Given the description of an element on the screen output the (x, y) to click on. 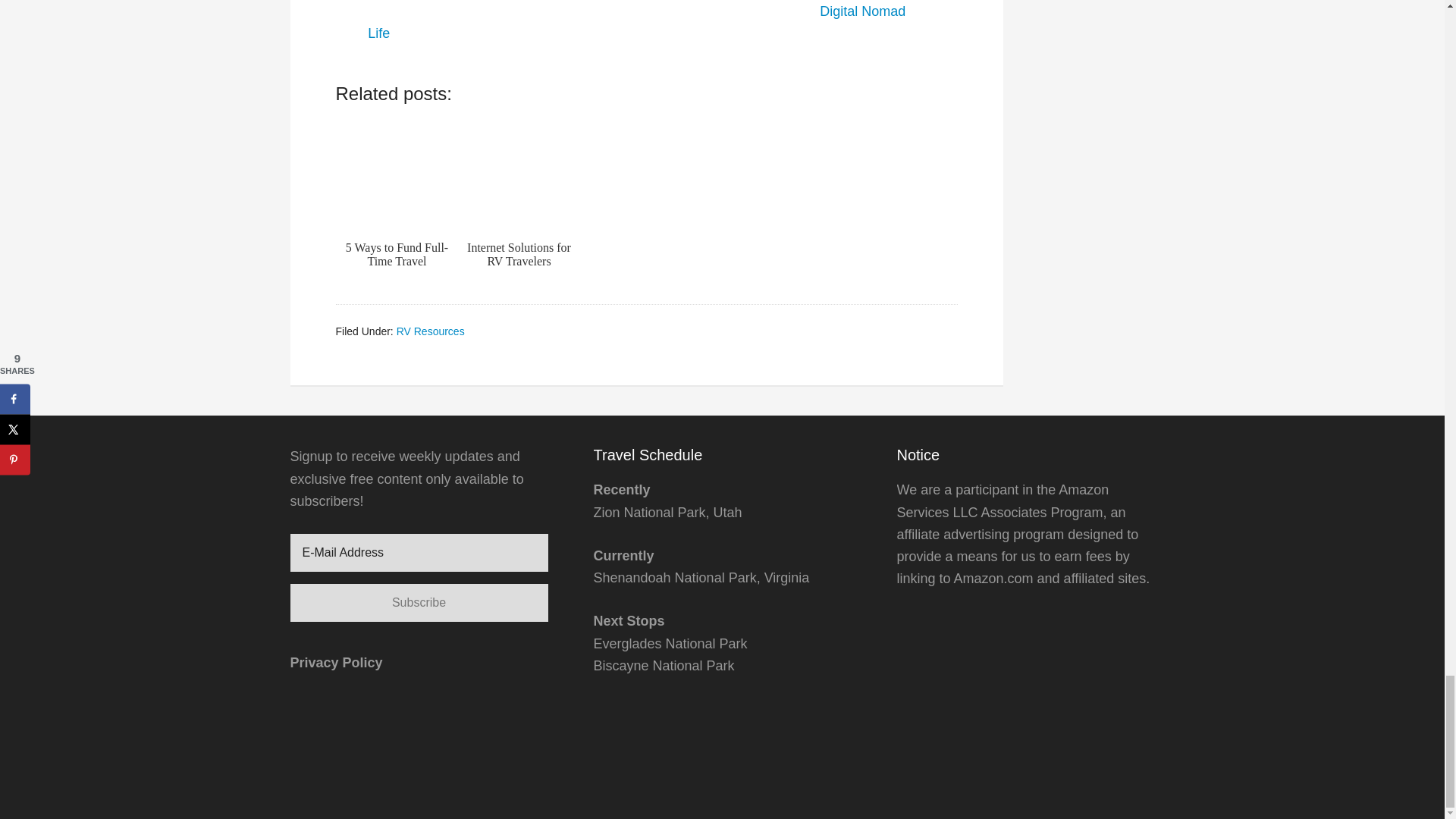
Subscribe (418, 602)
